Given the description of an element on the screen output the (x, y) to click on. 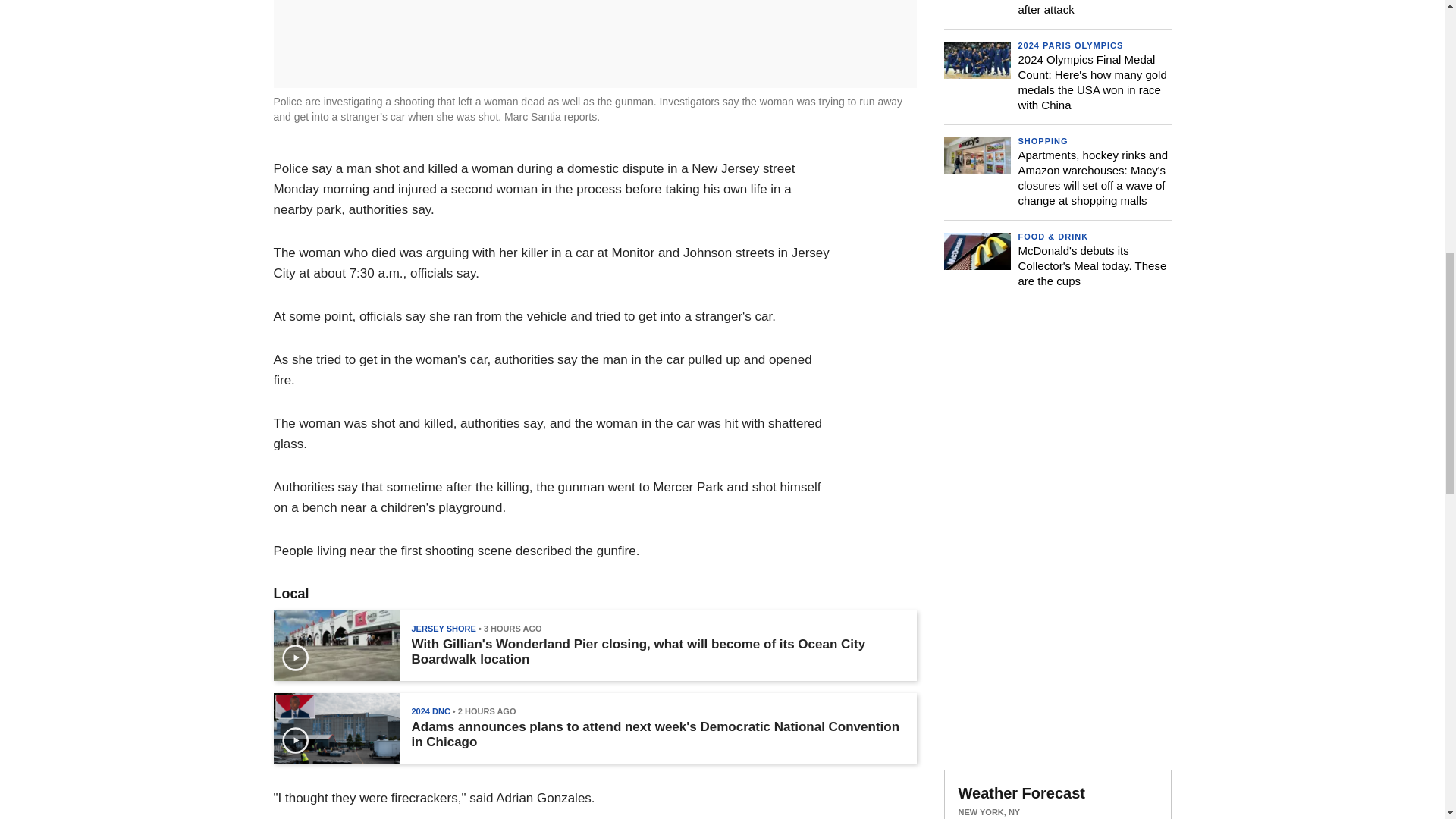
2024 DNC (429, 710)
JERSEY SHORE (443, 628)
